Given the description of an element on the screen output the (x, y) to click on. 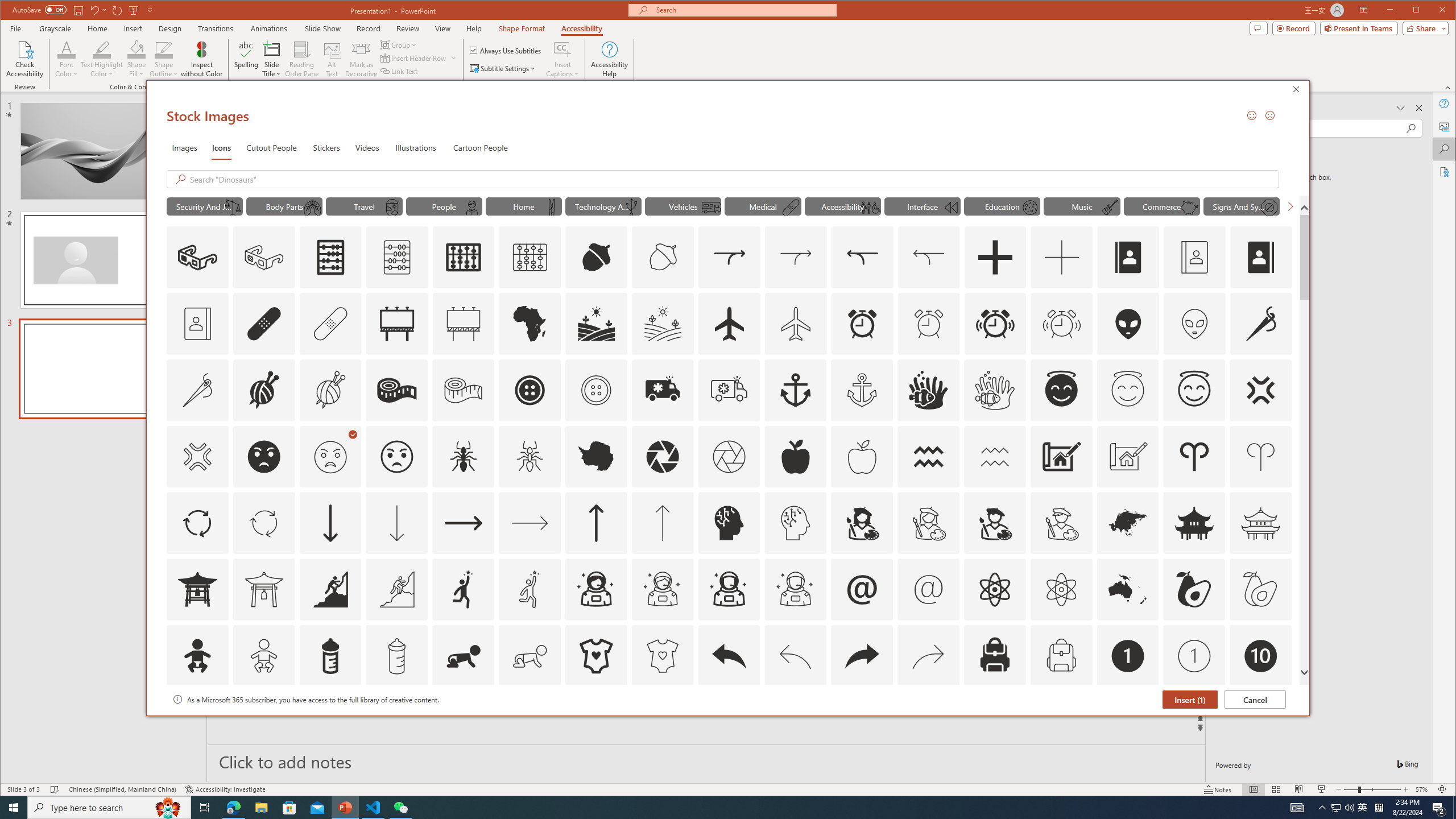
AutomationID: Icons_Acquisition_LTR_M (795, 256)
AutomationID: Icons_Advertising_M (462, 323)
"People" Icons. (443, 206)
Cancel (1254, 699)
AutomationID: Icons_ArtificialIntelligence (729, 522)
